Given the description of an element on the screen output the (x, y) to click on. 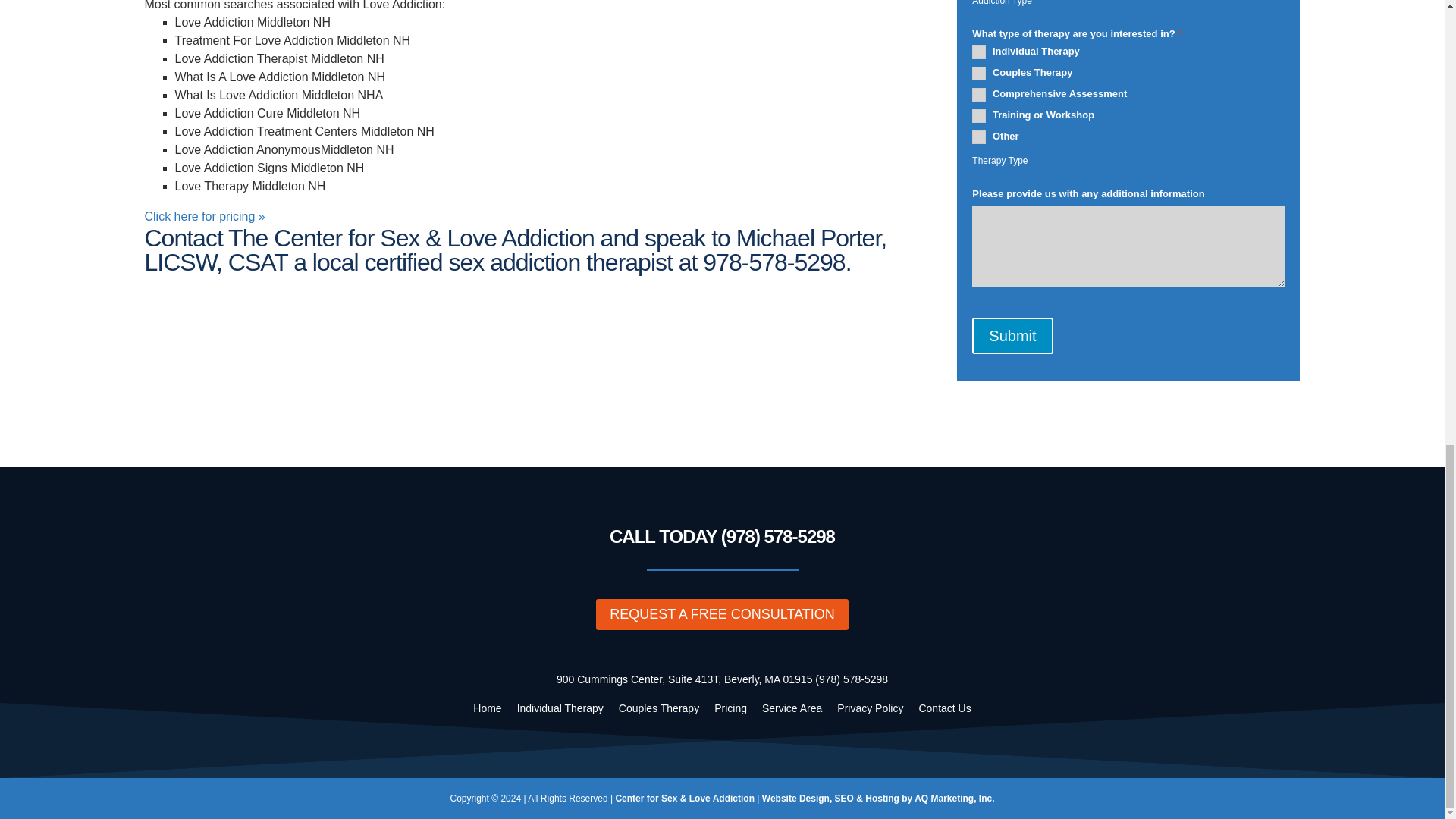
Pricing (726, 708)
REQUEST A FREE CONSULTATION (721, 613)
Couples Therapy (978, 73)
Submit (1012, 335)
Contact Us (941, 708)
Individual Therapy (556, 708)
Comprehensive Assessment (978, 94)
Service Area (788, 708)
Couples Therapy (654, 708)
Other (978, 137)
Individual Therapy (978, 51)
Training or Workshop (978, 115)
Privacy Policy (865, 708)
Home (482, 708)
